Given the description of an element on the screen output the (x, y) to click on. 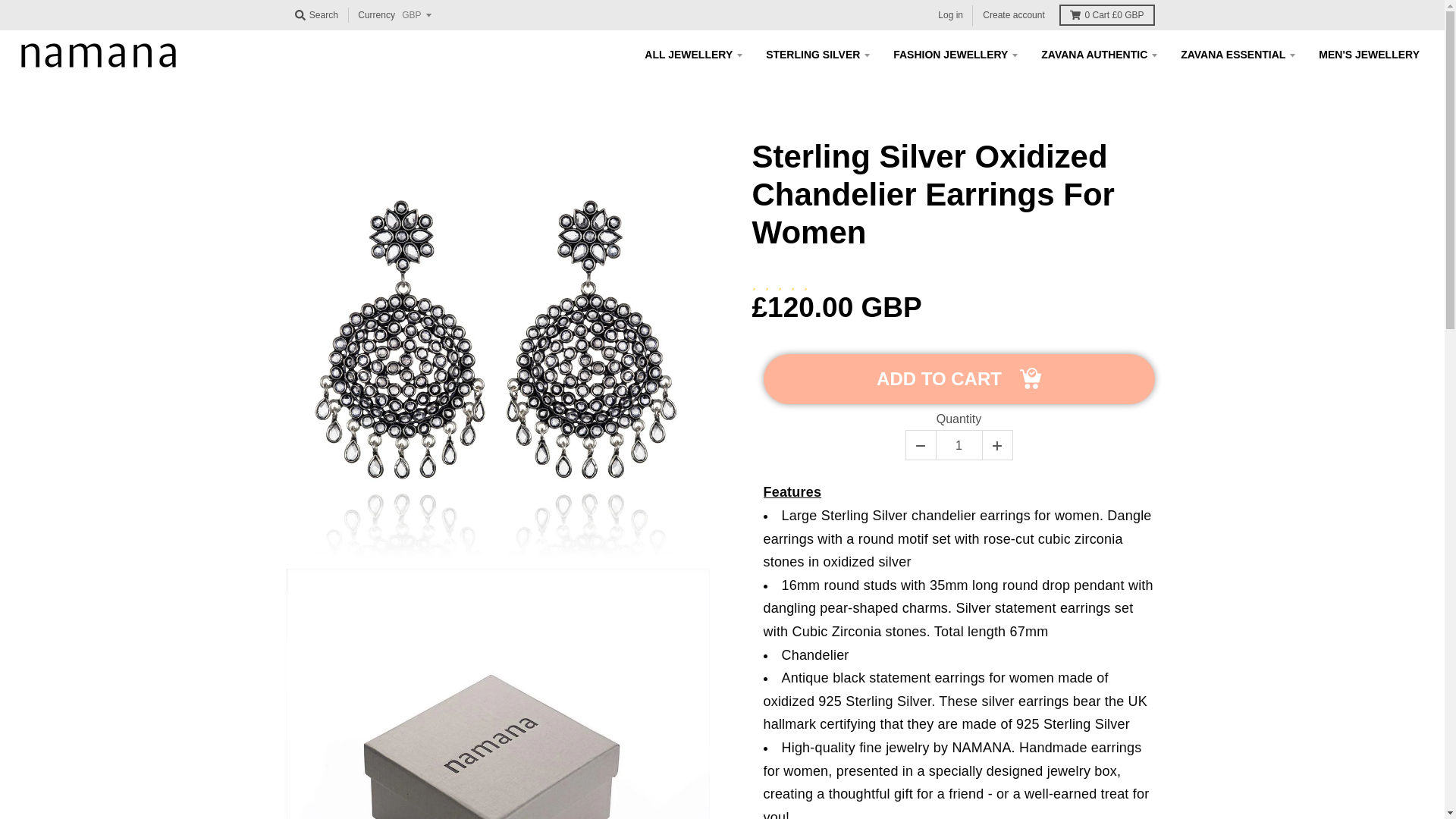
Log in (950, 14)
Search (315, 14)
ALL JEWELLERY (693, 53)
1 (958, 445)
Create account (1013, 14)
STERLING SILVER (817, 53)
